Given the description of an element on the screen output the (x, y) to click on. 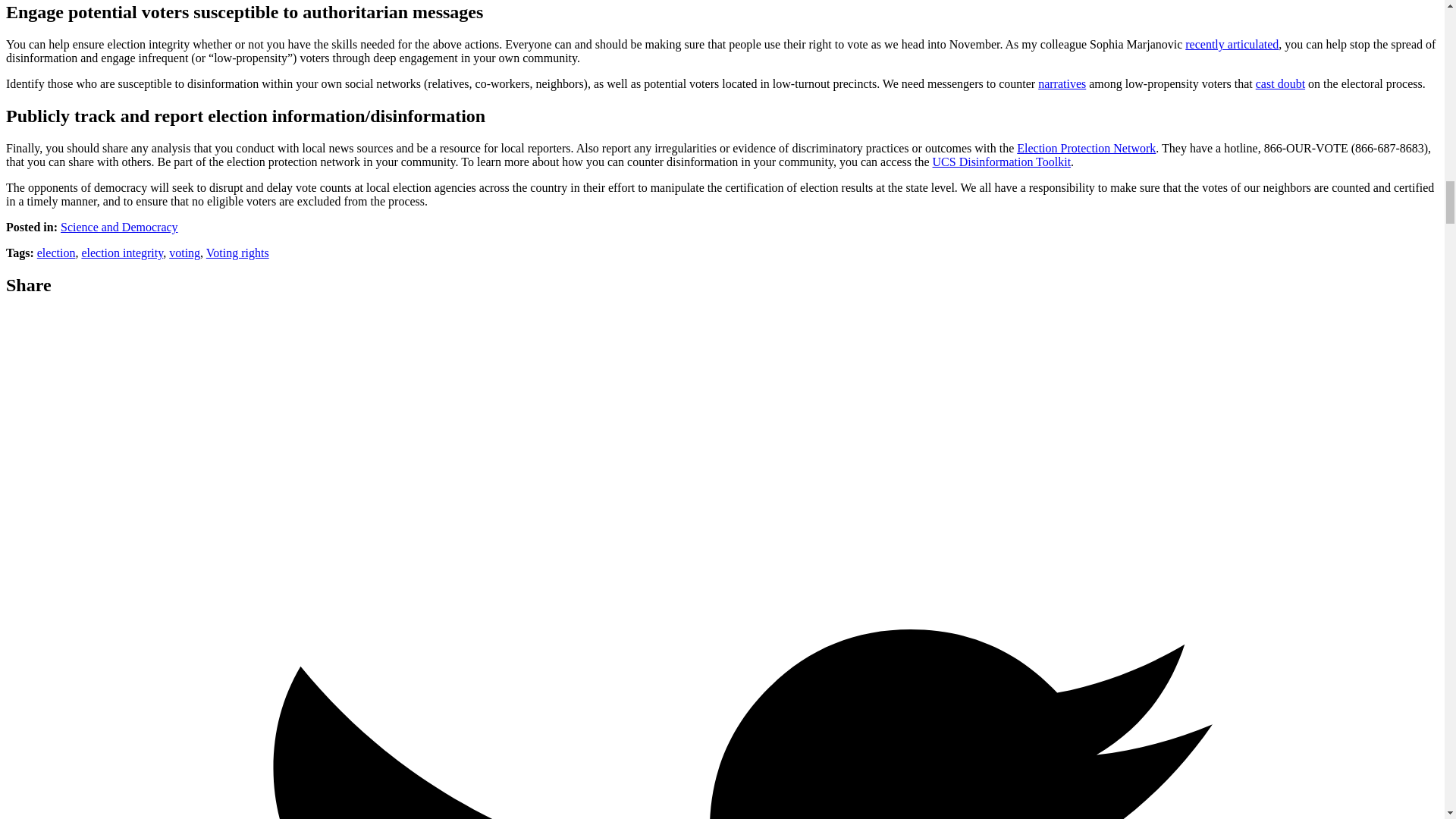
election integrity (122, 252)
narratives (1062, 83)
voting (184, 252)
UCS Disinformation Toolkit (1002, 161)
recently articulated (1231, 43)
Voting rights (237, 252)
election (56, 252)
cast doubt (1279, 83)
Election Protection Network (1086, 147)
Science and Democracy (119, 226)
